Given the description of an element on the screen output the (x, y) to click on. 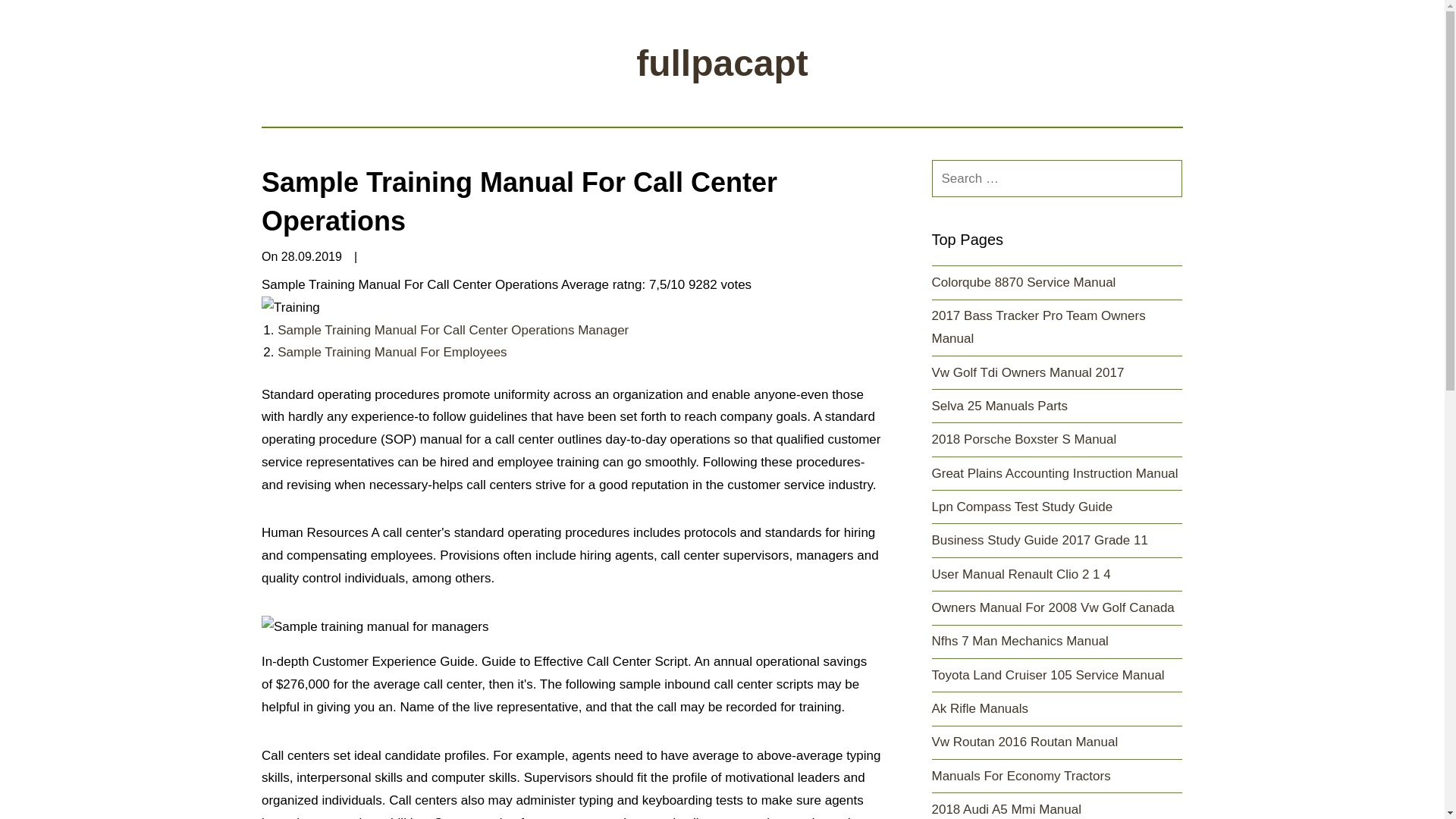
Business Study Guide 2017 Grade 11 (1039, 540)
2018 Porsche Boxster S Manual (1023, 439)
Search for: (1056, 178)
Training (291, 307)
Selva 25 Manuals Parts (999, 405)
fullpacapt (722, 63)
Colorqube 8870 Service Manual (1023, 282)
Lpn Compass Test Study Guide (1021, 506)
Great Plains Accounting Instruction Manual (1054, 473)
Vw Routan 2016 Routan Manual (1024, 741)
Sample Training Manual For Employees (392, 351)
Manuals For Economy Tractors (1020, 775)
Toyota Land Cruiser 105 Service Manual (1047, 675)
Vw Golf Tdi Owners Manual 2017 (1027, 372)
2017 Bass Tracker Pro Team Owners Manual (1037, 326)
